Given the description of an element on the screen output the (x, y) to click on. 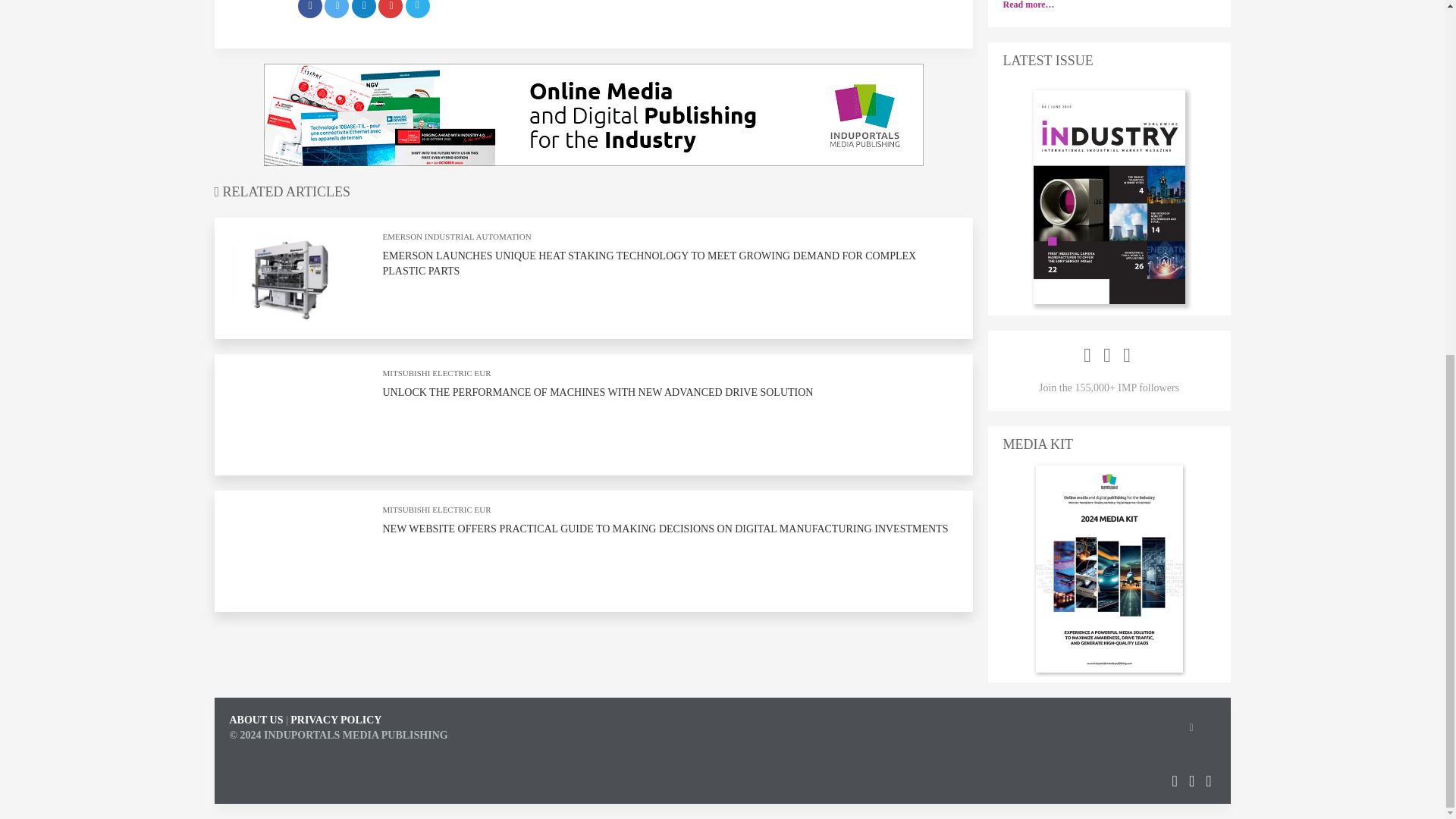
Share on Twitter (336, 9)
Share on Pinterest (390, 9)
Share on Facebook (309, 9)
Share on LinkedIn (363, 9)
